Given the description of an element on the screen output the (x, y) to click on. 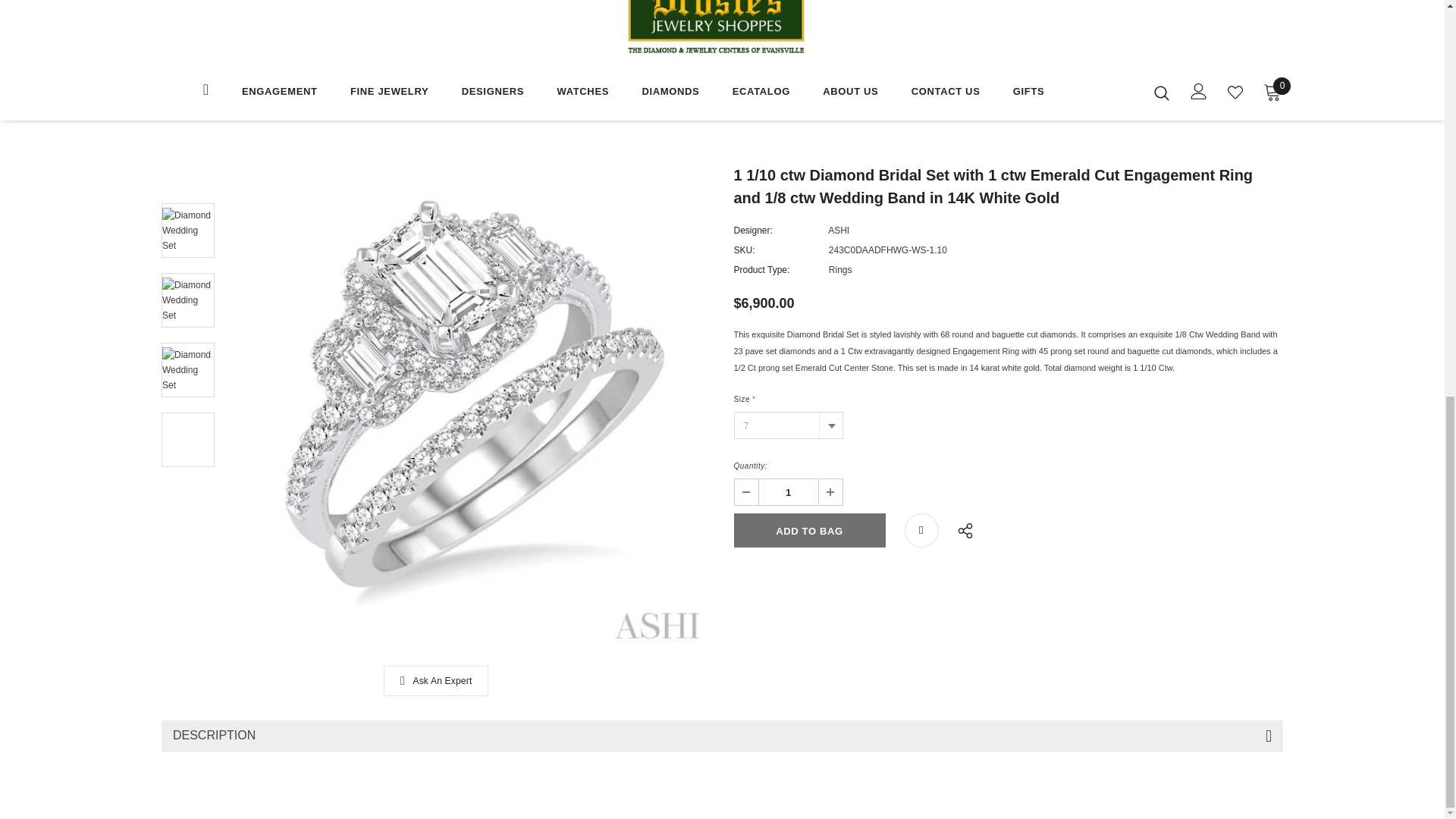
Add to Bag (809, 530)
Droste's Jewelry Shoppes (716, 28)
FINE JEWELRY (389, 93)
WATCHES (582, 93)
ABOUT US (849, 93)
Search (1161, 92)
DESIGNERS (492, 93)
ECATALOG (761, 93)
ENGAGEMENT (279, 93)
DIAMONDS (670, 93)
